Given the description of an element on the screen output the (x, y) to click on. 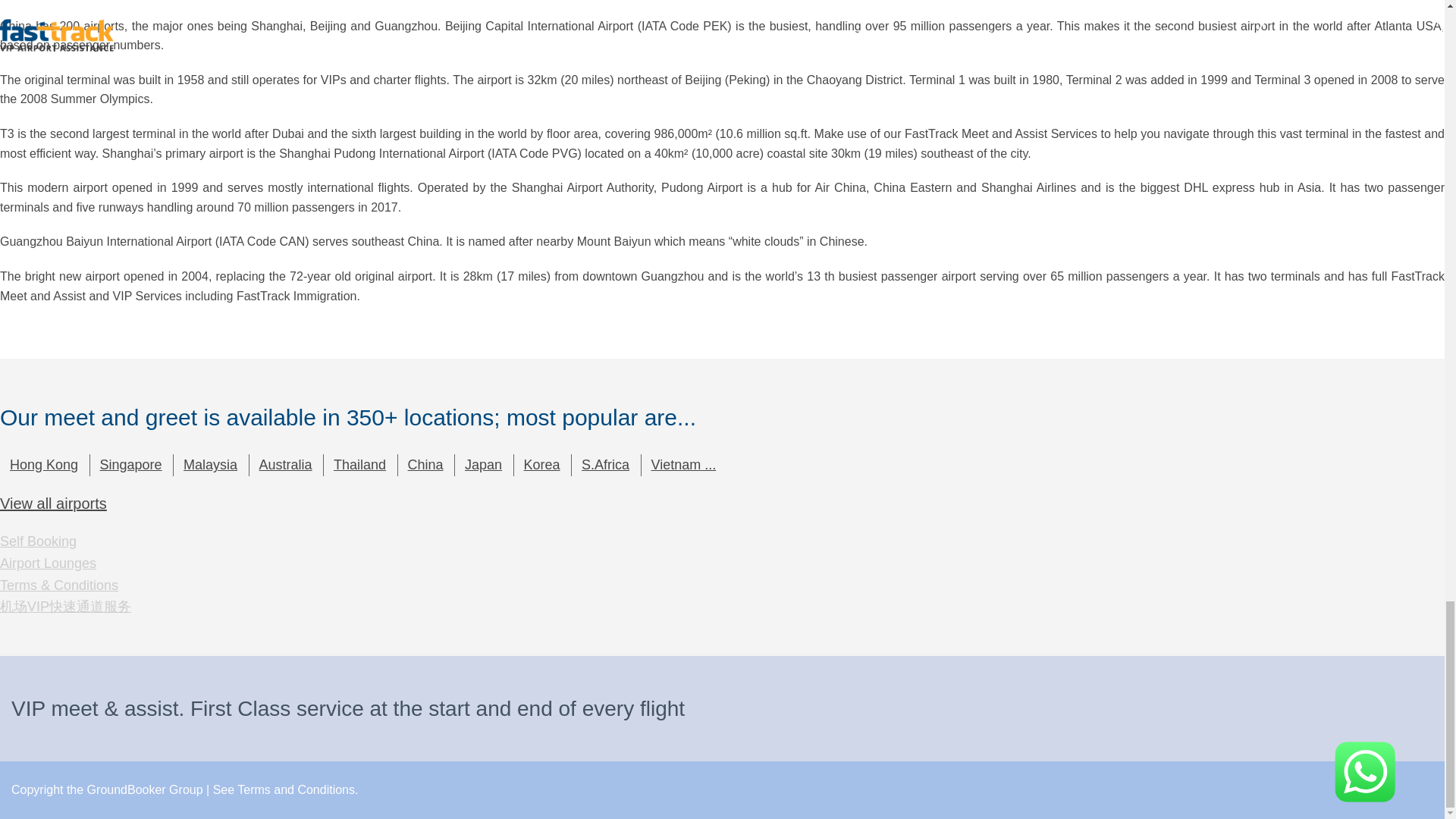
Thailand (358, 464)
Japan (481, 464)
S.Africa (603, 464)
Singapore (129, 464)
Korea (540, 464)
Self Booking (38, 540)
Hong Kong (42, 464)
Australia (284, 464)
Airport Lounges (48, 563)
Malaysia (208, 464)
China (424, 464)
View all airports (53, 503)
Vietnam ... (681, 464)
